Given the description of an element on the screen output the (x, y) to click on. 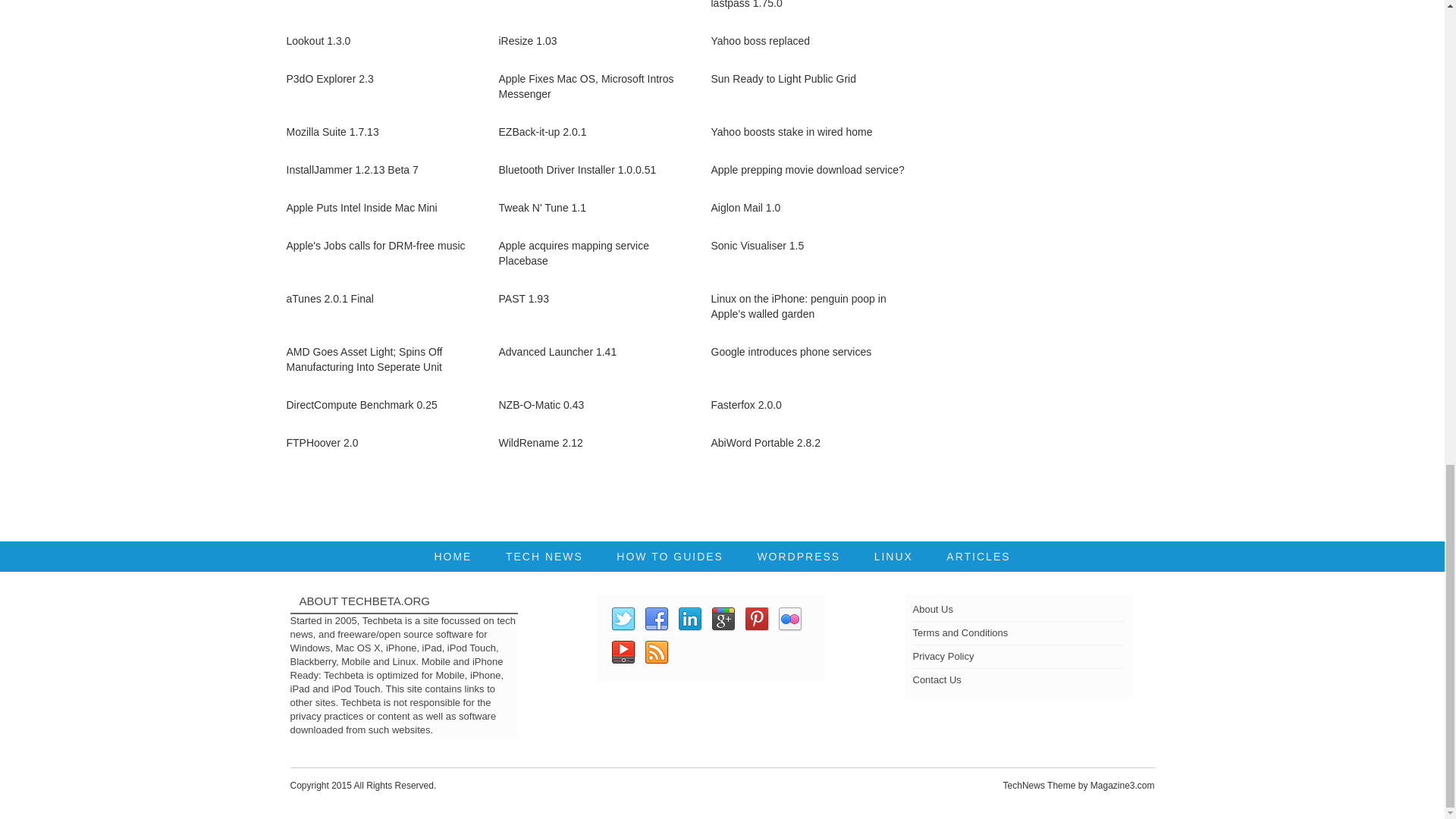
Facebook (654, 619)
LinkedIn (688, 619)
Twitter (621, 619)
Google Plus (721, 619)
